Given the description of an element on the screen output the (x, y) to click on. 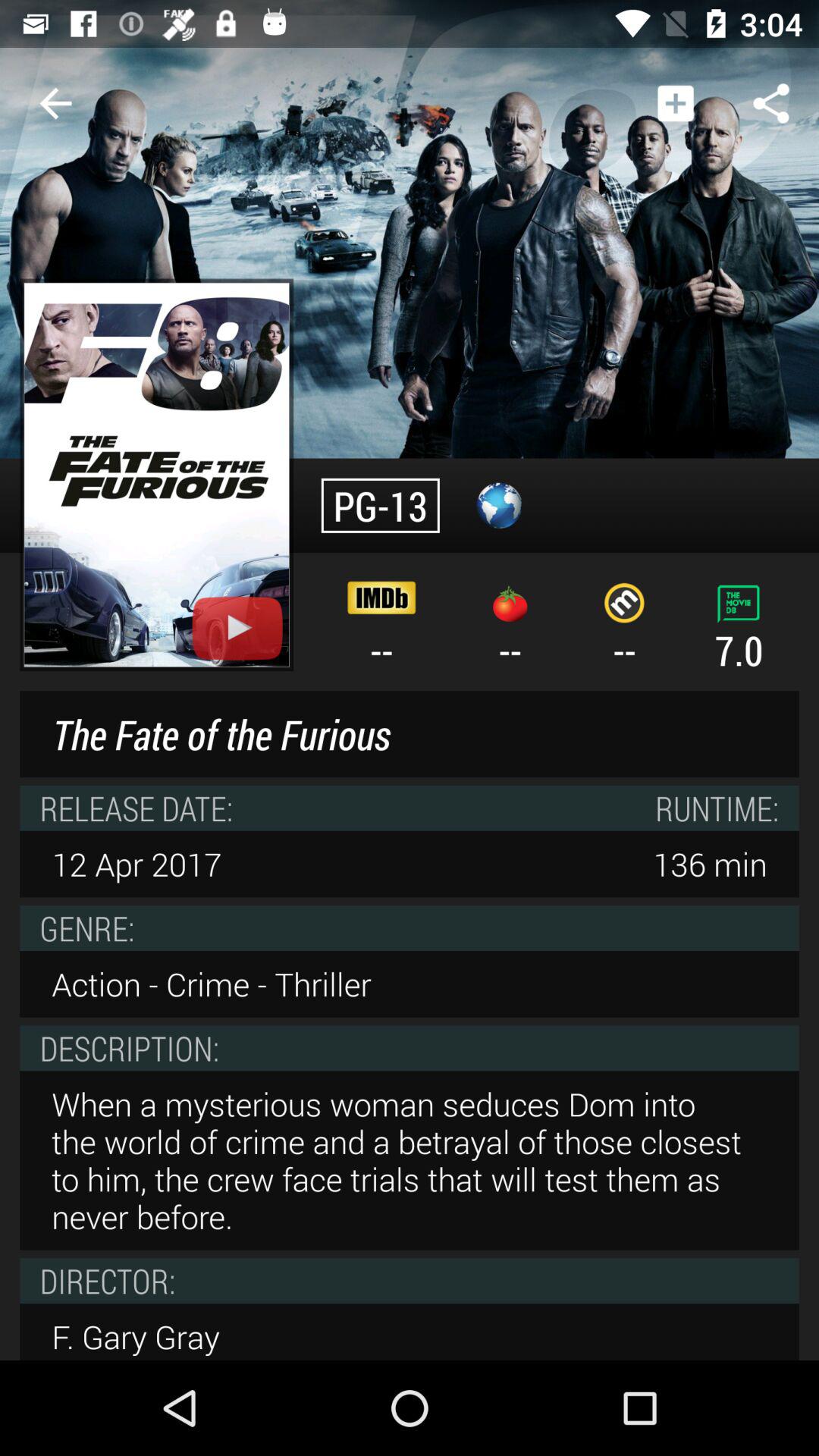
play fate of the furious movie (156, 474)
